Given the description of an element on the screen output the (x, y) to click on. 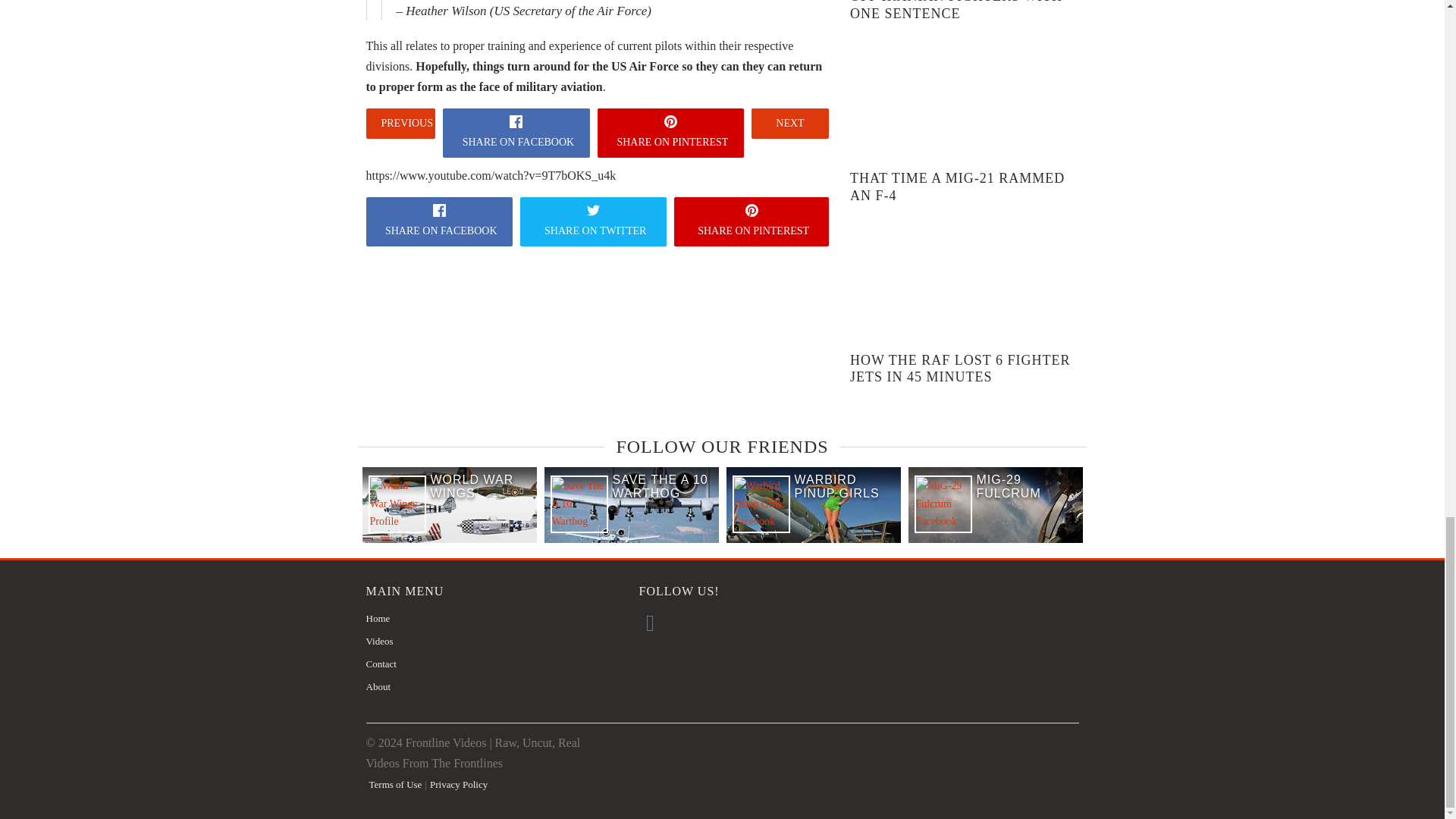
SHARE ON TWITTER (592, 221)
SHARE ON PINTEREST (751, 221)
SHARE ON FACEBOOK (438, 221)
HOW THE RAF LOST 6 FIGHTER JETS IN 45 MINUTES (960, 368)
THAT TIME A MIG-21 RAMMED AN F-4 (957, 186)
NEXT (789, 123)
SHARE ON PINTEREST (670, 133)
WORLD WAR WINGS (483, 486)
